Given the description of an element on the screen output the (x, y) to click on. 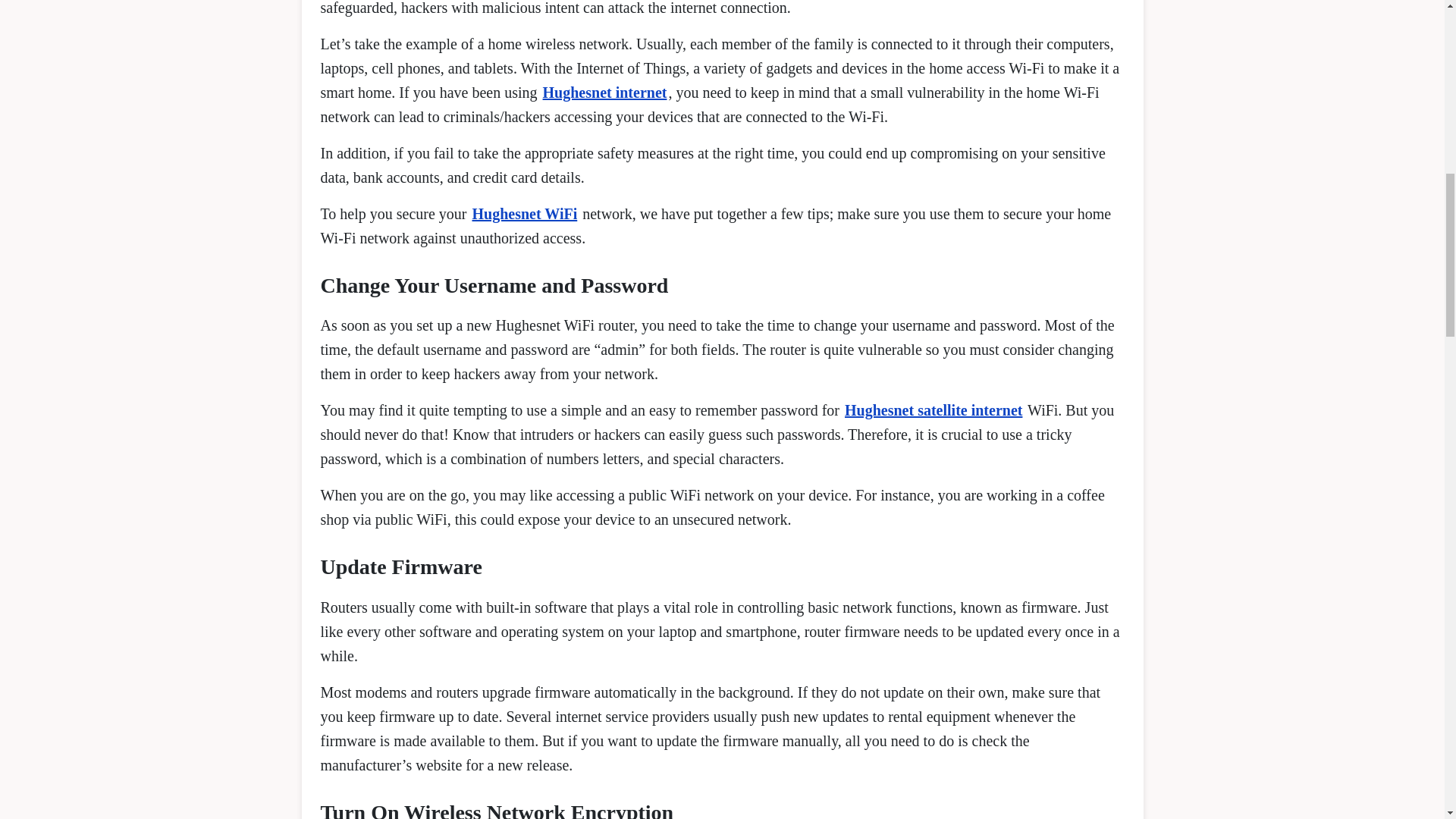
Hughesnet satellite internet (933, 410)
Hughesnet internet (604, 92)
Hughesnet WiFi (524, 213)
